Given the description of an element on the screen output the (x, y) to click on. 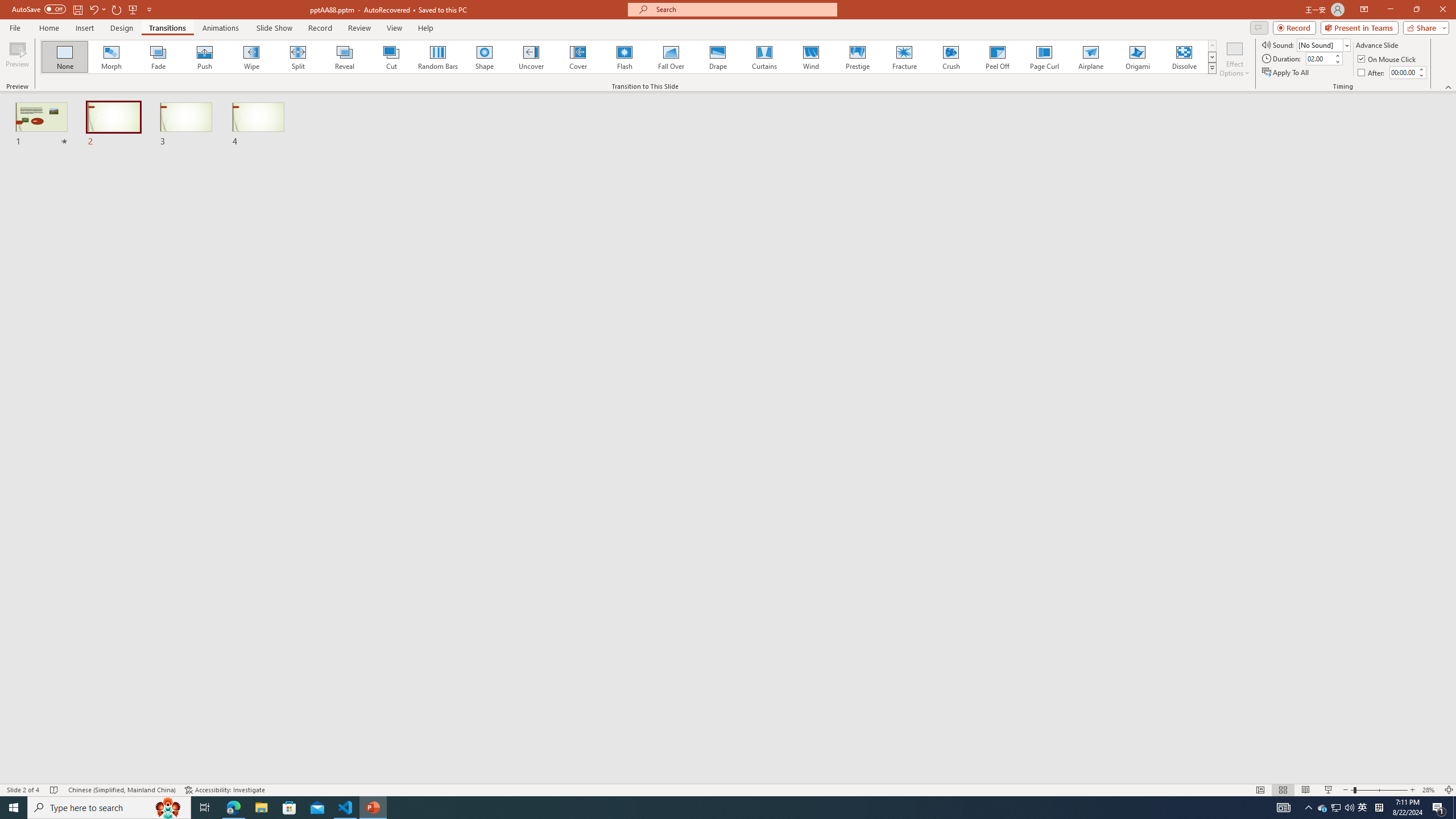
On Mouse Click (1387, 58)
Curtains (764, 56)
AutomationID: AnimationTransitionGallery (628, 56)
Effect Options (1234, 58)
Split (298, 56)
Crush (950, 56)
